Given the description of an element on the screen output the (x, y) to click on. 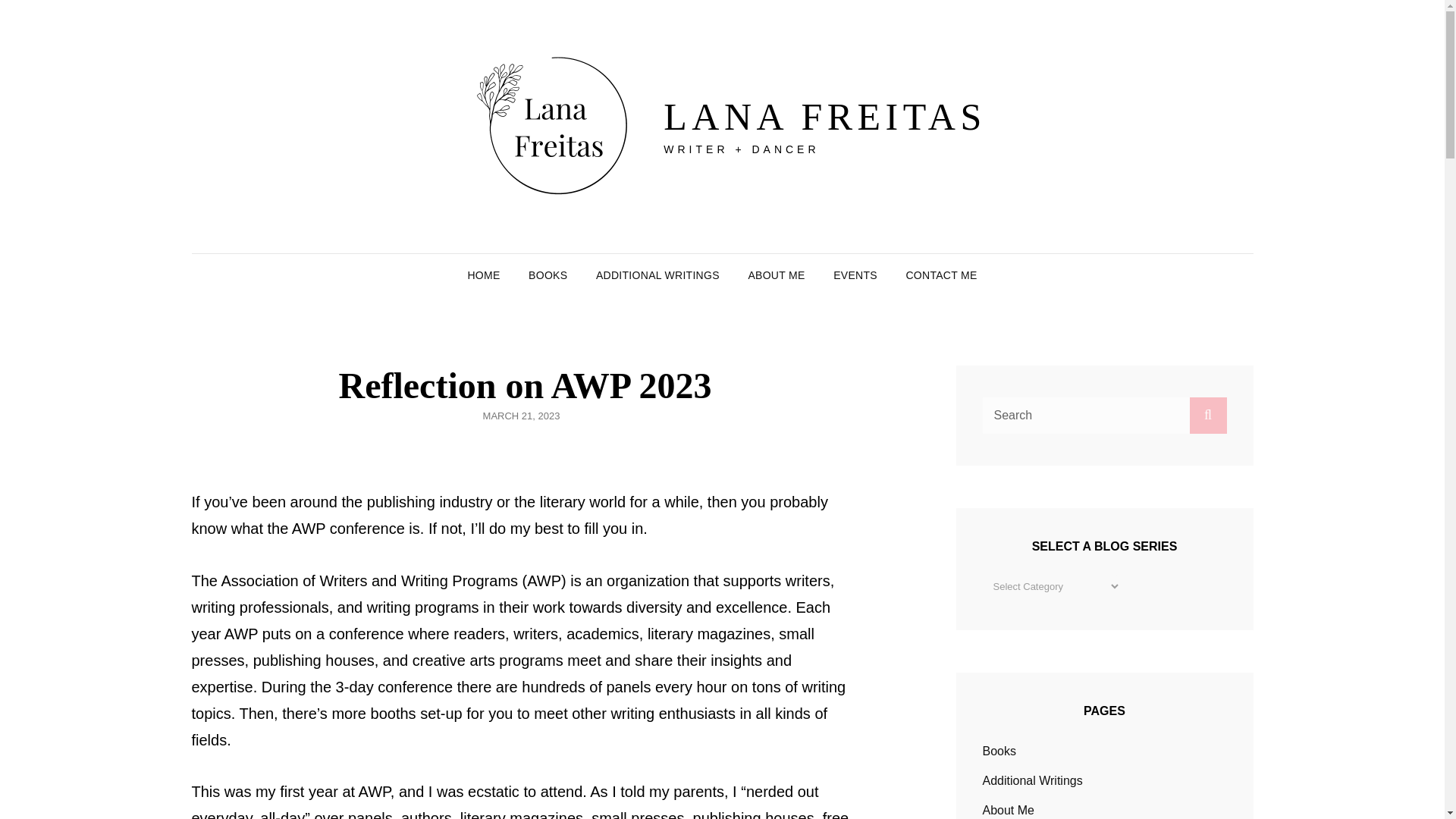
Search (1207, 415)
Additional Writings (1032, 780)
LANA FREITAS (824, 116)
BOOKS (547, 274)
CONTACT ME (940, 274)
ADDITIONAL WRITINGS (657, 274)
HOME (483, 274)
EVENTS (855, 274)
About Me (1007, 809)
ABOUT ME (775, 274)
Books (999, 750)
MARCH 21, 2023 (521, 415)
